Given the description of an element on the screen output the (x, y) to click on. 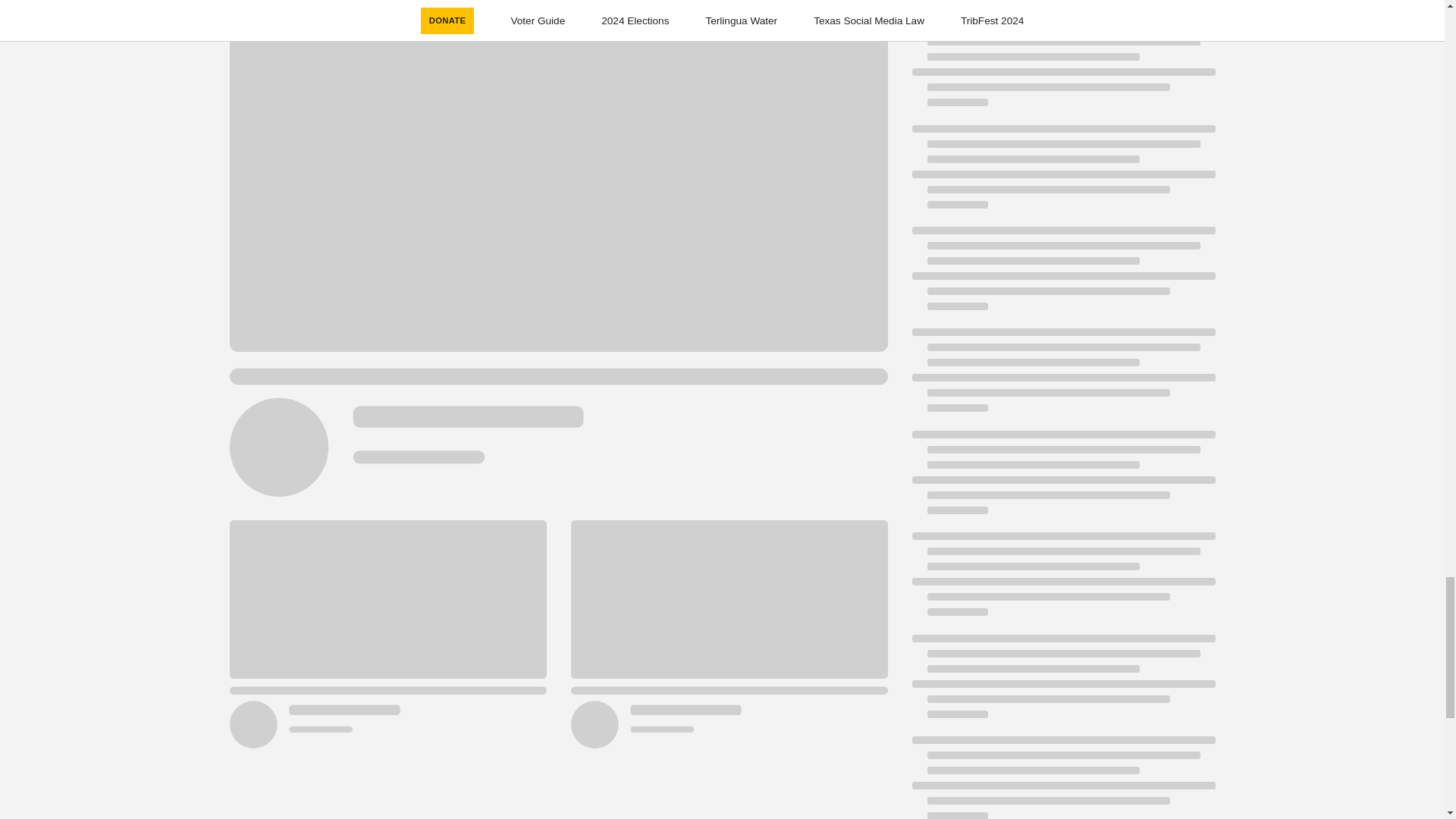
Loading indicator (1062, 71)
Loading indicator (1062, 275)
Loading indicator (1062, 683)
Loading indicator (1062, 174)
Loading indicator (1062, 377)
Loading indicator (1062, 777)
Loading indicator (1062, 479)
Loading indicator (1062, 581)
